Given the description of an element on the screen output the (x, y) to click on. 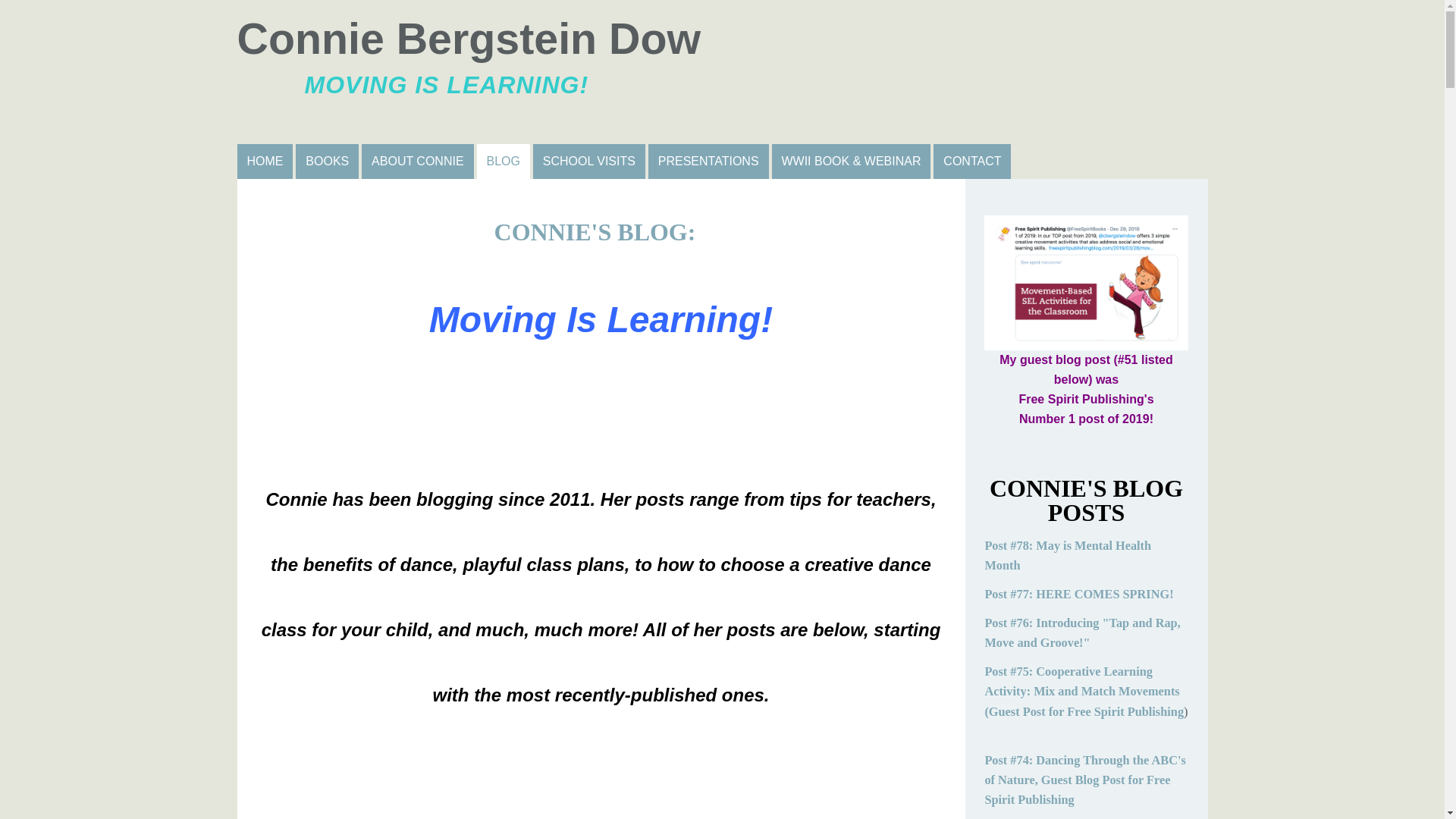
BOOKS (326, 161)
CONTACT (971, 161)
ABOUT CONNIE (417, 161)
HOME (263, 161)
SCHOOL VISITS (588, 161)
PRESENTATIONS (707, 161)
BLOG (721, 71)
